Given the description of an element on the screen output the (x, y) to click on. 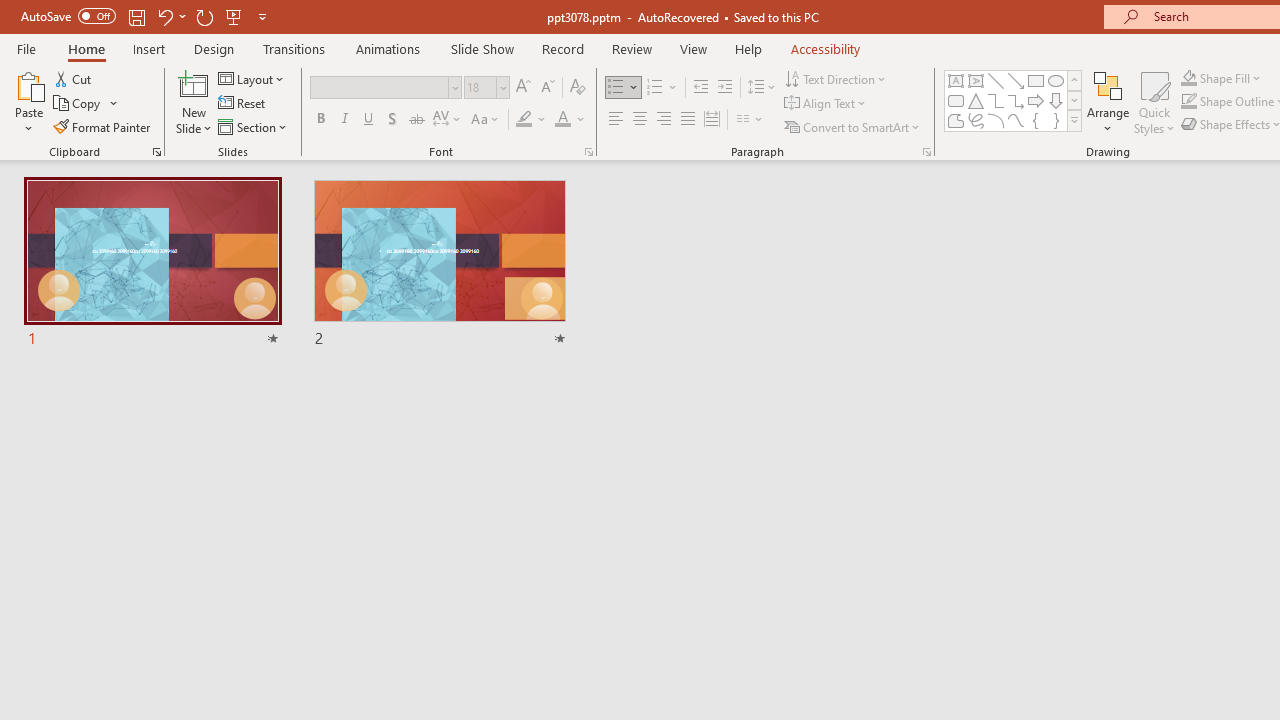
Align Right (663, 119)
Line (995, 80)
Row up (1074, 79)
Font Color (569, 119)
Arrange (1108, 102)
Line Spacing (762, 87)
Justify (687, 119)
Row Down (1074, 100)
Rectangle: Rounded Corners (955, 100)
Decrease Font Size (547, 87)
Section (254, 126)
